Given the description of an element on the screen output the (x, y) to click on. 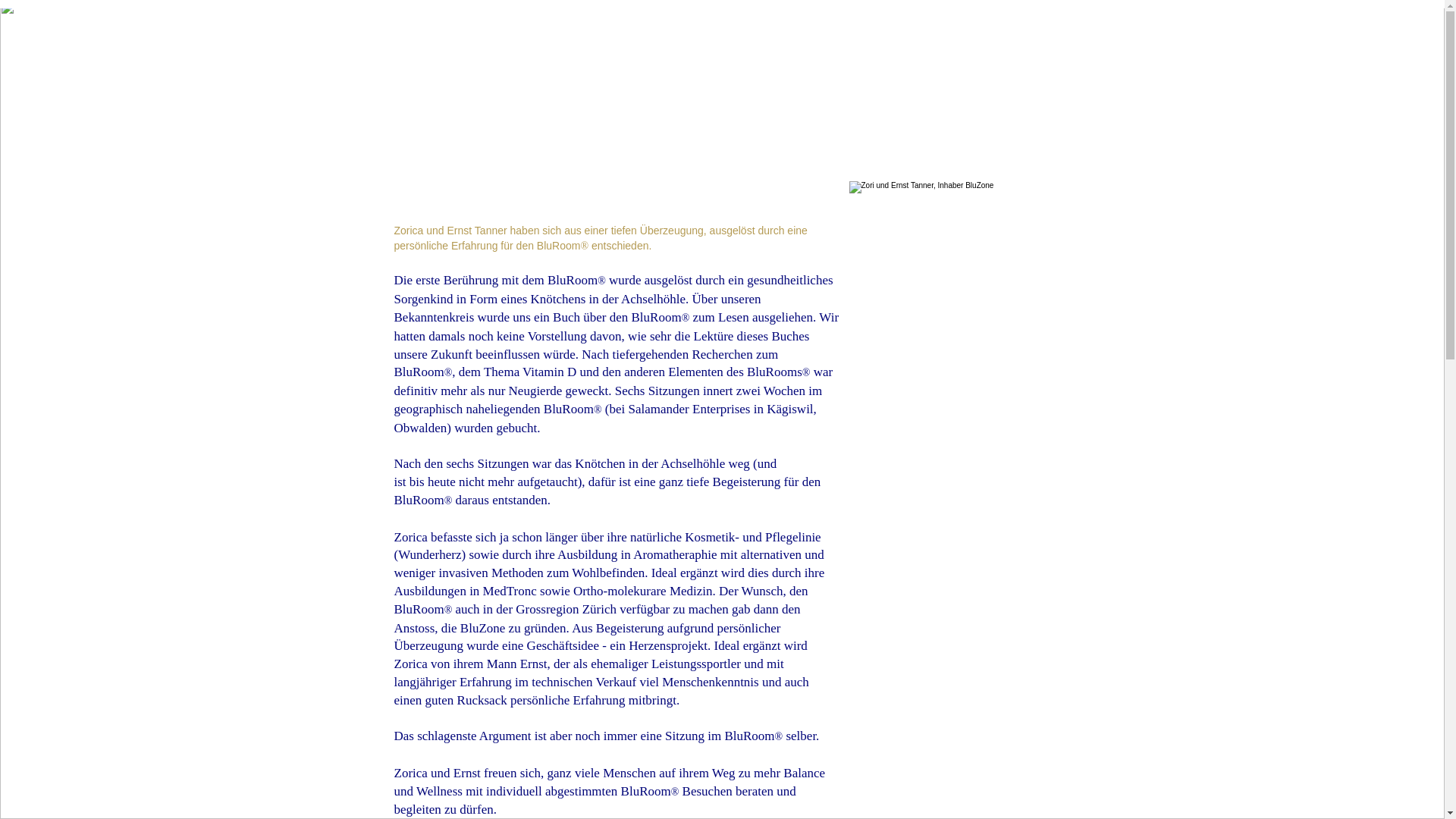
KONTAKT & LAGEPLAN Element type: text (1100, 72)
BUCHE HIER Element type: text (771, 72)
PRODUKTE Element type: text (864, 72)
NEWS & MEDIA Element type: text (966, 72)
ANGEBOT & PREISE Element type: text (650, 72)
